Given the description of an element on the screen output the (x, y) to click on. 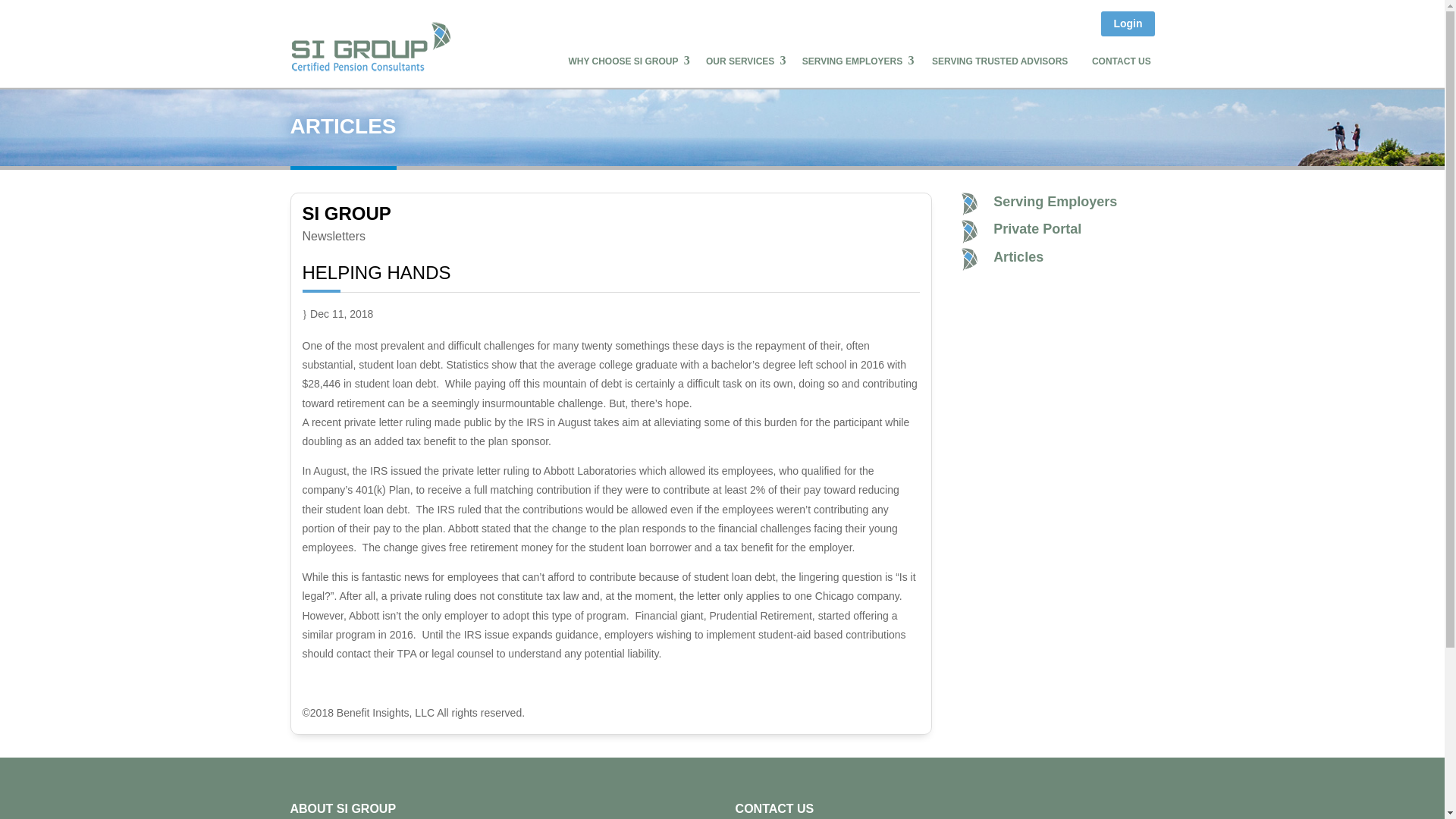
SERVING TRUSTED ADVISORS (999, 61)
SERVING EMPLOYERS (855, 61)
CONTACT US (1121, 61)
Login (1127, 23)
WHY CHOOSE SI GROUP (626, 61)
OUR SERVICES (743, 61)
